Given the description of an element on the screen output the (x, y) to click on. 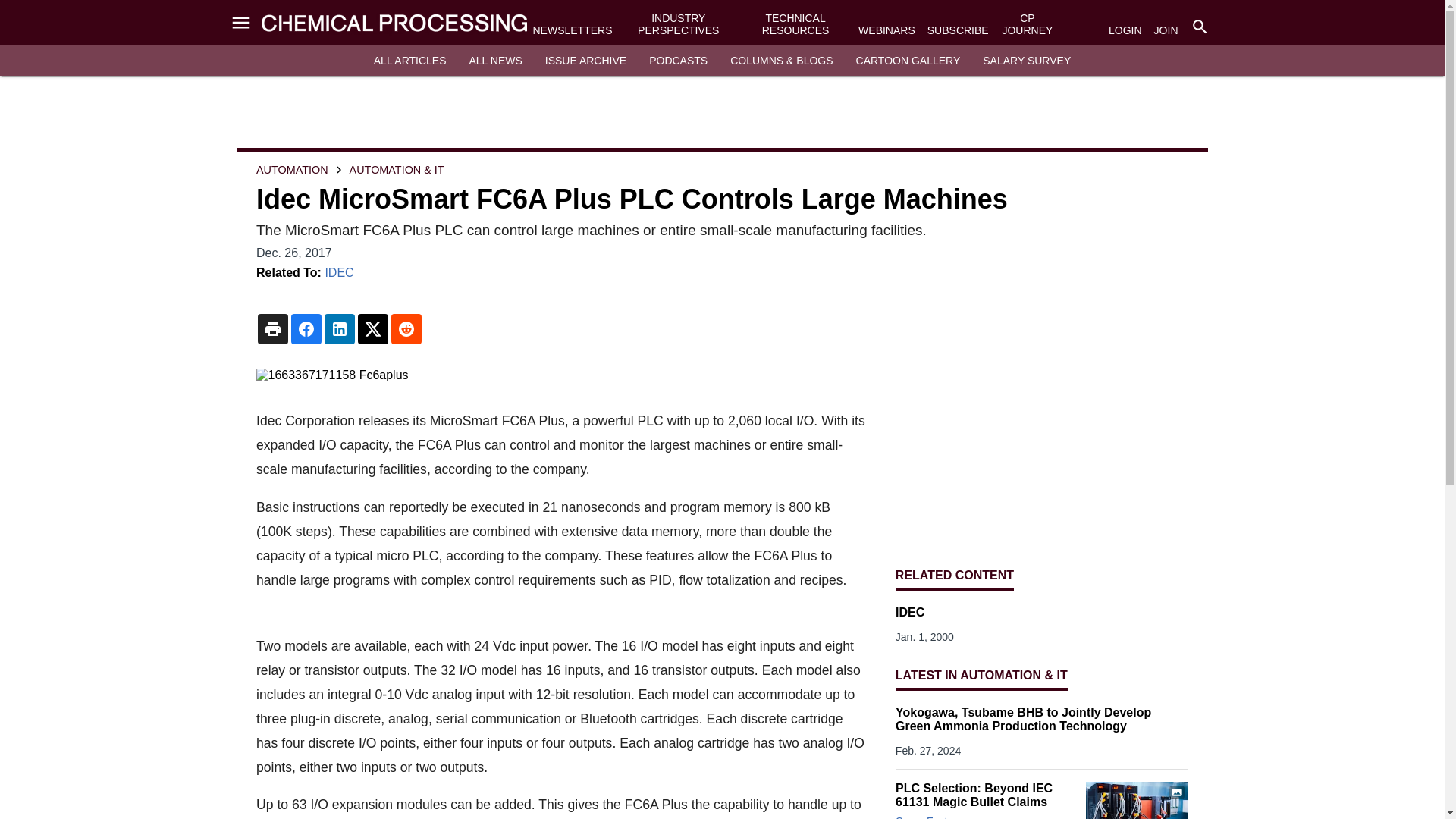
CARTOON GALLERY (908, 60)
JOIN (1165, 30)
PODCASTS (678, 60)
ALL NEWS (494, 60)
TECHNICAL RESOURCES (795, 24)
ALL ARTICLES (410, 60)
NEWSLETTERS (571, 30)
1663367171158 Fc6aplus (560, 375)
WEBINARS (887, 30)
Programmable Logic Controller (1137, 800)
SUBSCRIBE (957, 30)
LOGIN (1124, 30)
ISSUE ARCHIVE (585, 60)
CP JOURNEY (1026, 24)
SALARY SURVEY (1026, 60)
